Given the description of an element on the screen output the (x, y) to click on. 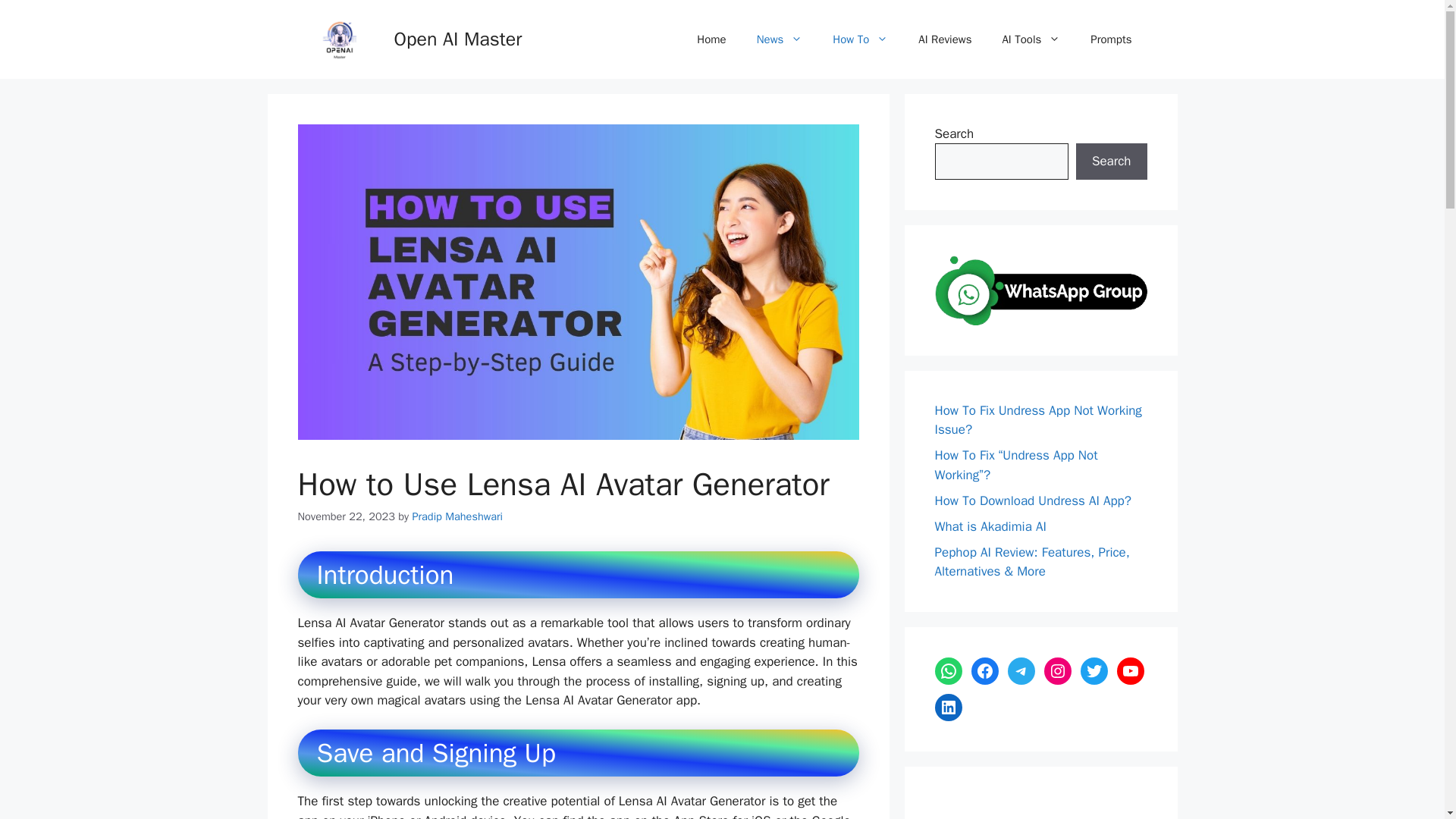
How To (859, 39)
AI Reviews (944, 39)
AI Tools (1031, 39)
Search (1111, 161)
Facebook (984, 670)
Instagram (1056, 670)
Open AI Master (458, 38)
View all posts by Pradip Maheshwari (457, 516)
Twitter (1093, 670)
Pradip Maheshwari (457, 516)
Telegram (1020, 670)
WhatsApp (947, 670)
How To Download Undress AI App? (1032, 500)
What is Akadimia AI (989, 526)
News (779, 39)
